Given the description of an element on the screen output the (x, y) to click on. 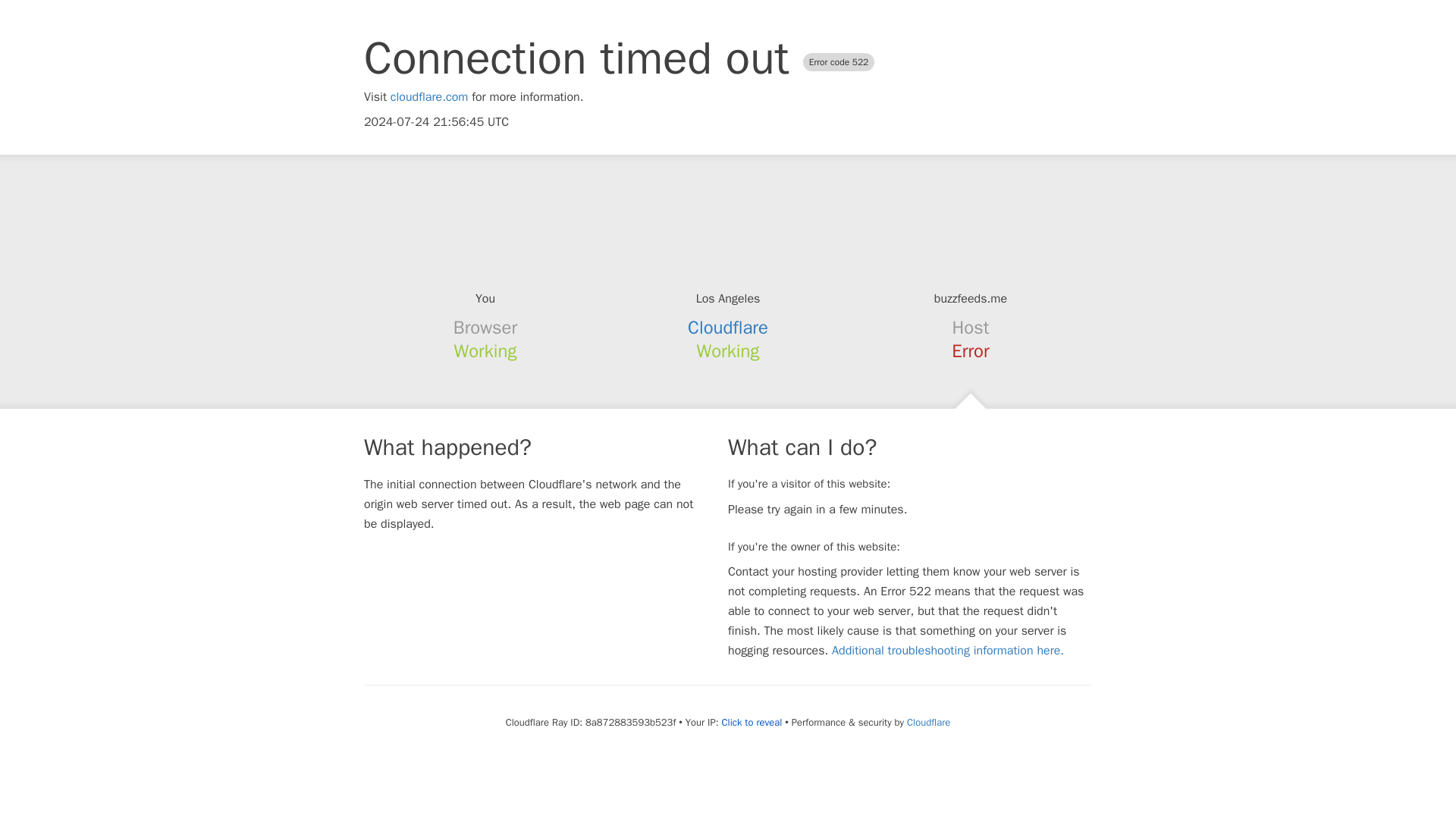
Cloudflare (727, 327)
Cloudflare (928, 721)
Click to reveal (750, 722)
cloudflare.com (429, 96)
Additional troubleshooting information here. (947, 650)
